Given the description of an element on the screen output the (x, y) to click on. 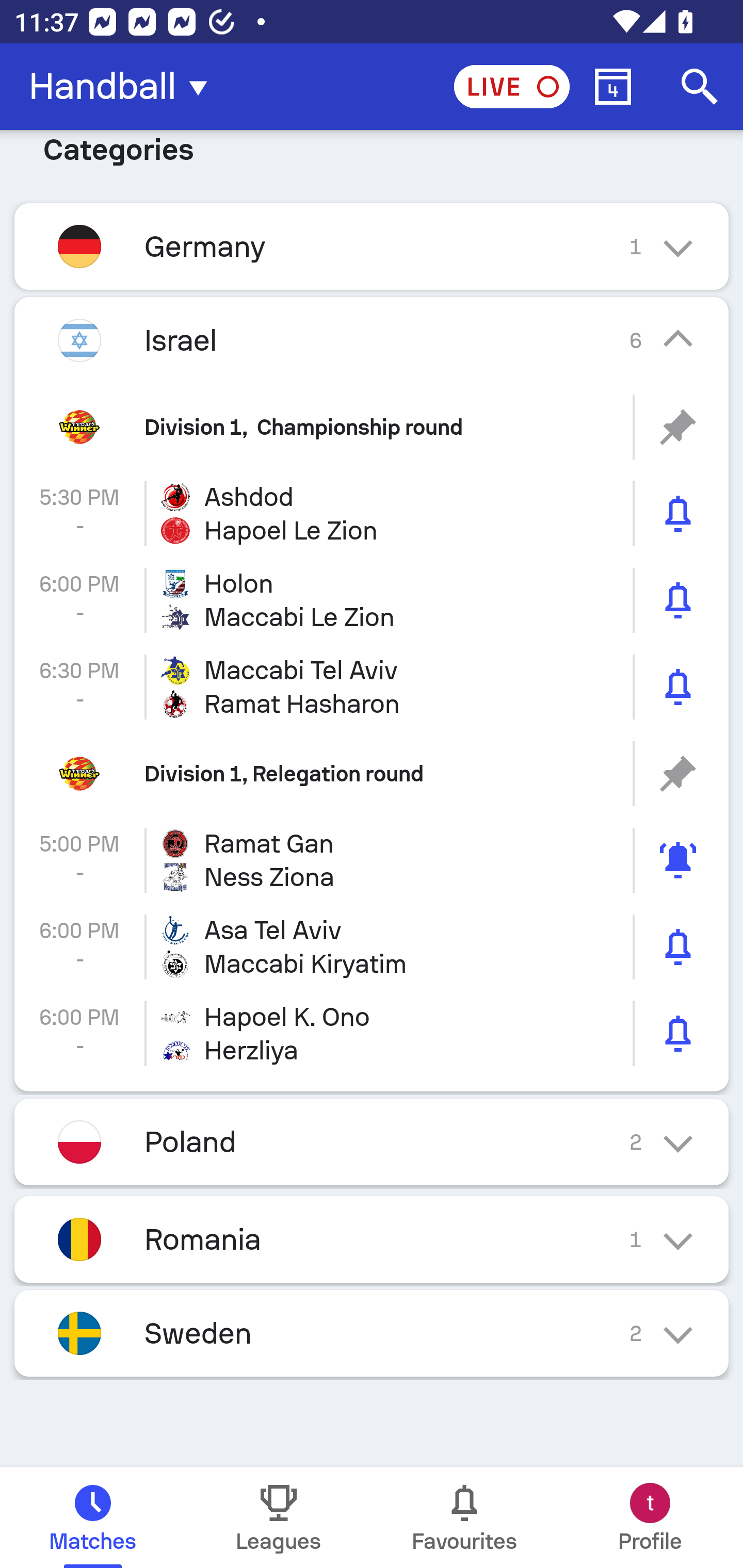
Handball (124, 86)
Calendar (612, 86)
Search (699, 86)
Categories (371, 163)
Germany 1 (371, 246)
Israel 6 (371, 340)
Division 1,  Championship round (371, 427)
5:30 PM - Ashdod Hapoel Le Zion (371, 513)
6:00 PM - Holon Maccabi Le Zion (371, 600)
6:30 PM - Maccabi Tel Aviv Ramat Hasharon (371, 687)
Division 1, Relegation round (371, 773)
5:00 PM - Ramat Gan Ness Ziona (371, 859)
6:00 PM - Asa Tel Aviv Maccabi Kiryatim (371, 946)
6:00 PM - Hapoel K. Ono Herzliya (371, 1033)
Poland 2 (371, 1142)
Romania 1 (371, 1239)
Sweden 2 (371, 1333)
Leagues (278, 1517)
Favourites (464, 1517)
Profile (650, 1517)
